Given the description of an element on the screen output the (x, y) to click on. 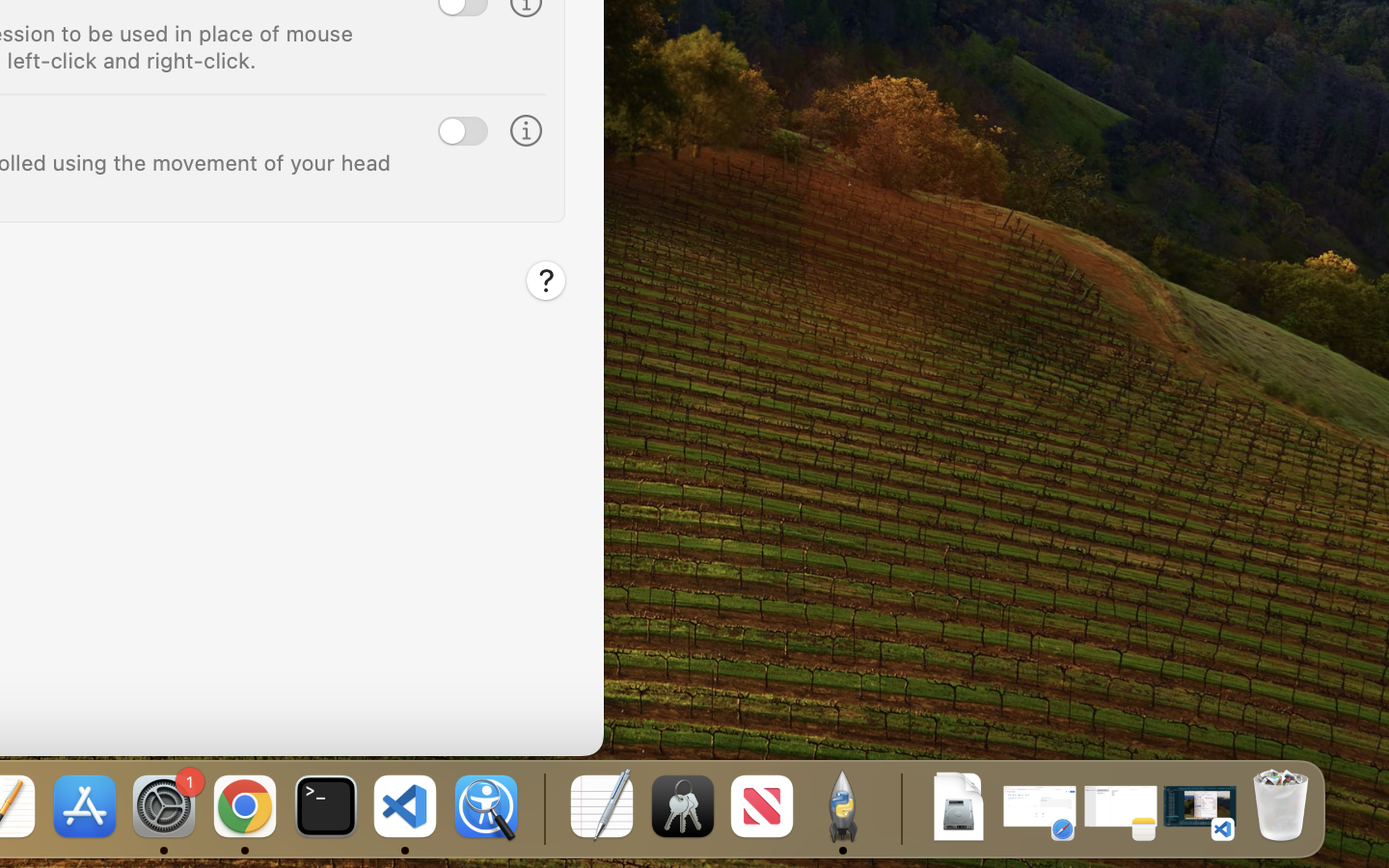
0.4285714328289032 Element type: AXDockItem (541, 807)
